Given the description of an element on the screen output the (x, y) to click on. 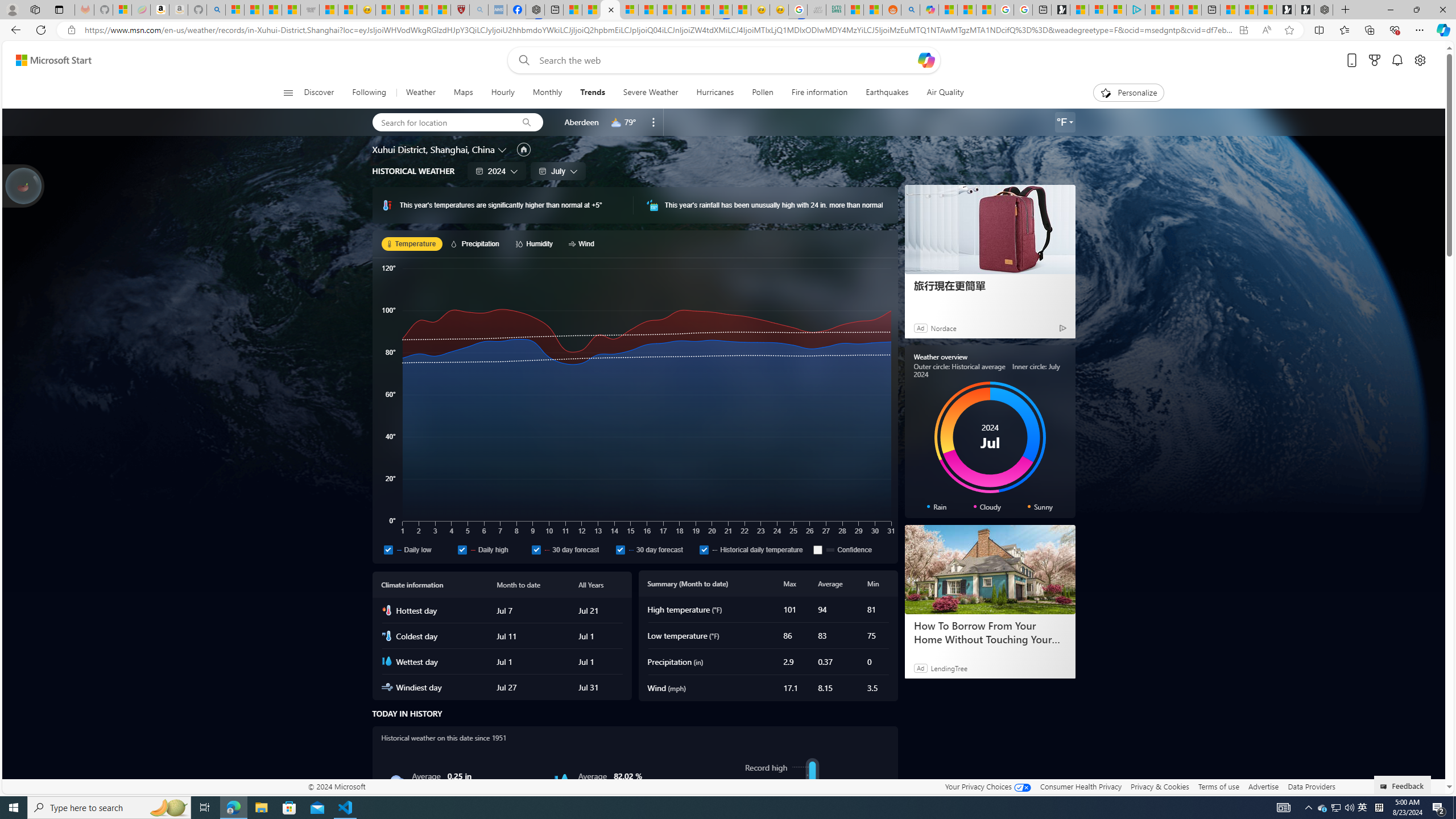
Privacy & Cookies (1160, 785)
